Given the description of an element on the screen output the (x, y) to click on. 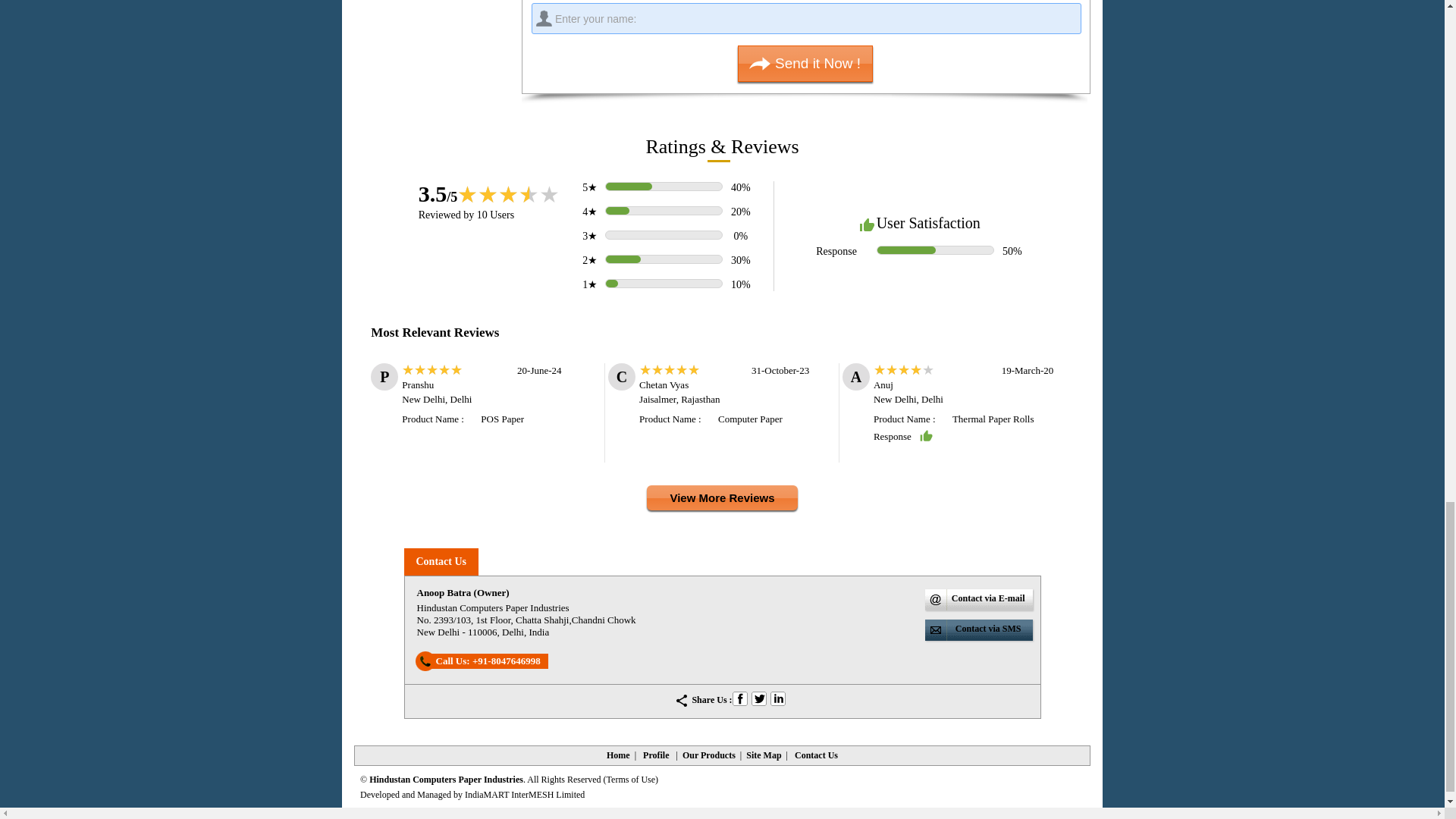
Send it Now ! (805, 63)
Send it Now ! (805, 63)
Enter your name: (806, 18)
3.5 out of 5 Votes (438, 193)
